Given the description of an element on the screen output the (x, y) to click on. 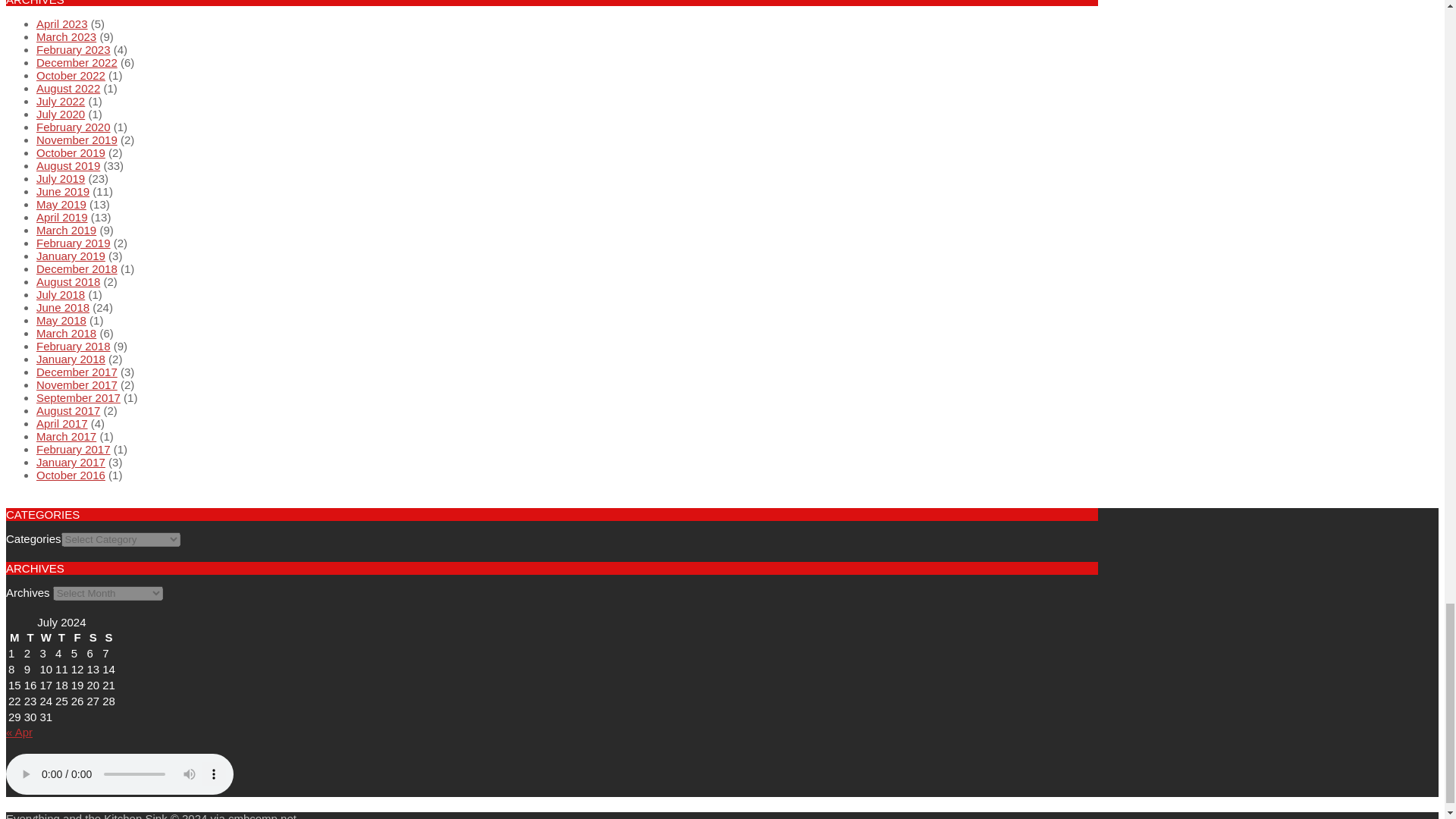
Saturday (92, 636)
Monday (14, 636)
Friday (76, 636)
Sunday (108, 636)
Tuesday (30, 636)
Thursday (61, 636)
Wednesday (45, 636)
